Given the description of an element on the screen output the (x, y) to click on. 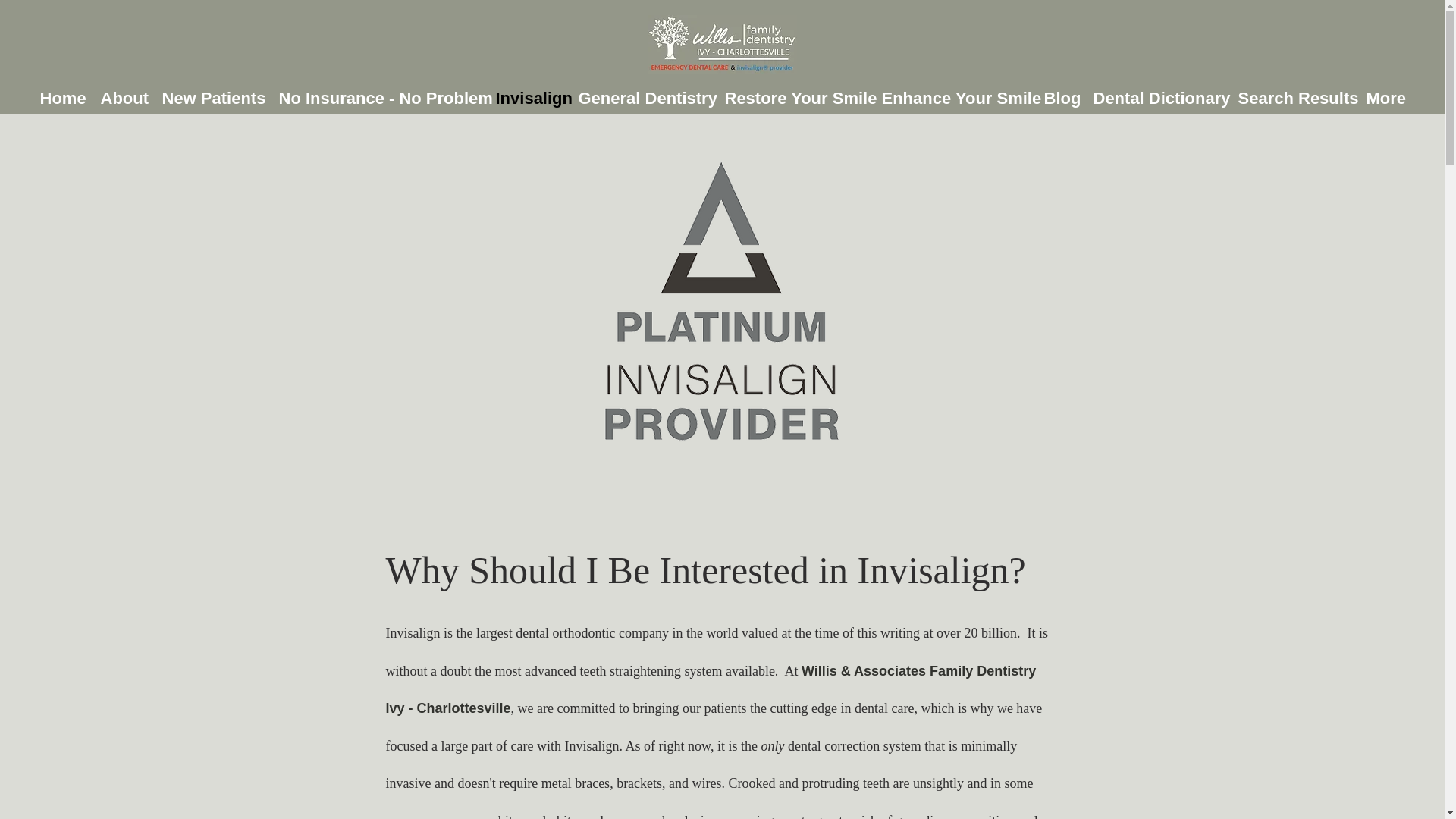
Restore Your Smile (796, 98)
Home (62, 98)
New Patients (212, 98)
Search Results (1294, 98)
General Dentistry (643, 98)
Blog (1059, 98)
Dental Dictionary (1158, 98)
No Insurance - No Problem (378, 98)
Enhance Your Smile (954, 98)
Invisalign (528, 98)
